Given the description of an element on the screen output the (x, y) to click on. 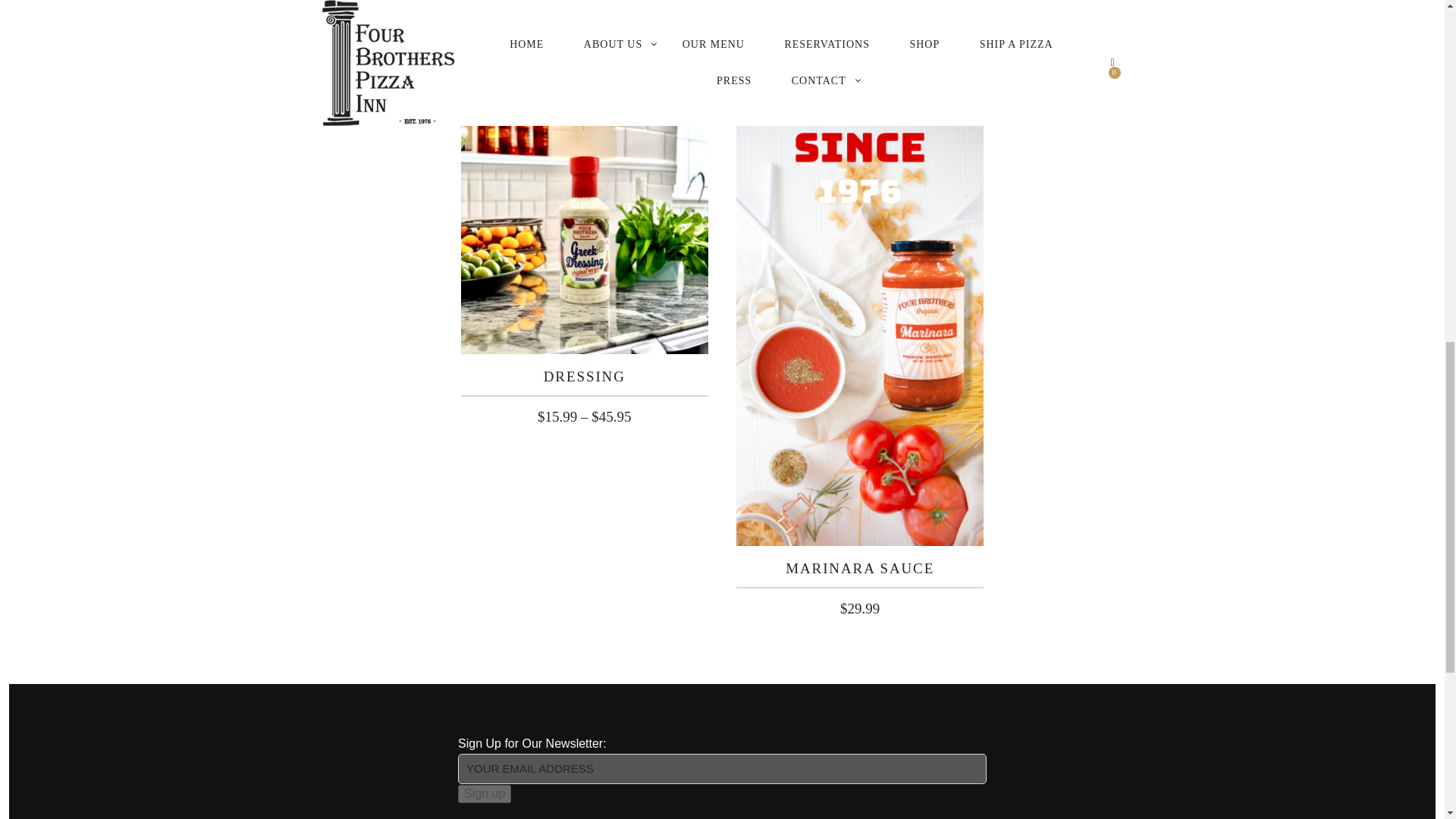
Sign up (484, 793)
Sign up (484, 793)
